Given the description of an element on the screen output the (x, y) to click on. 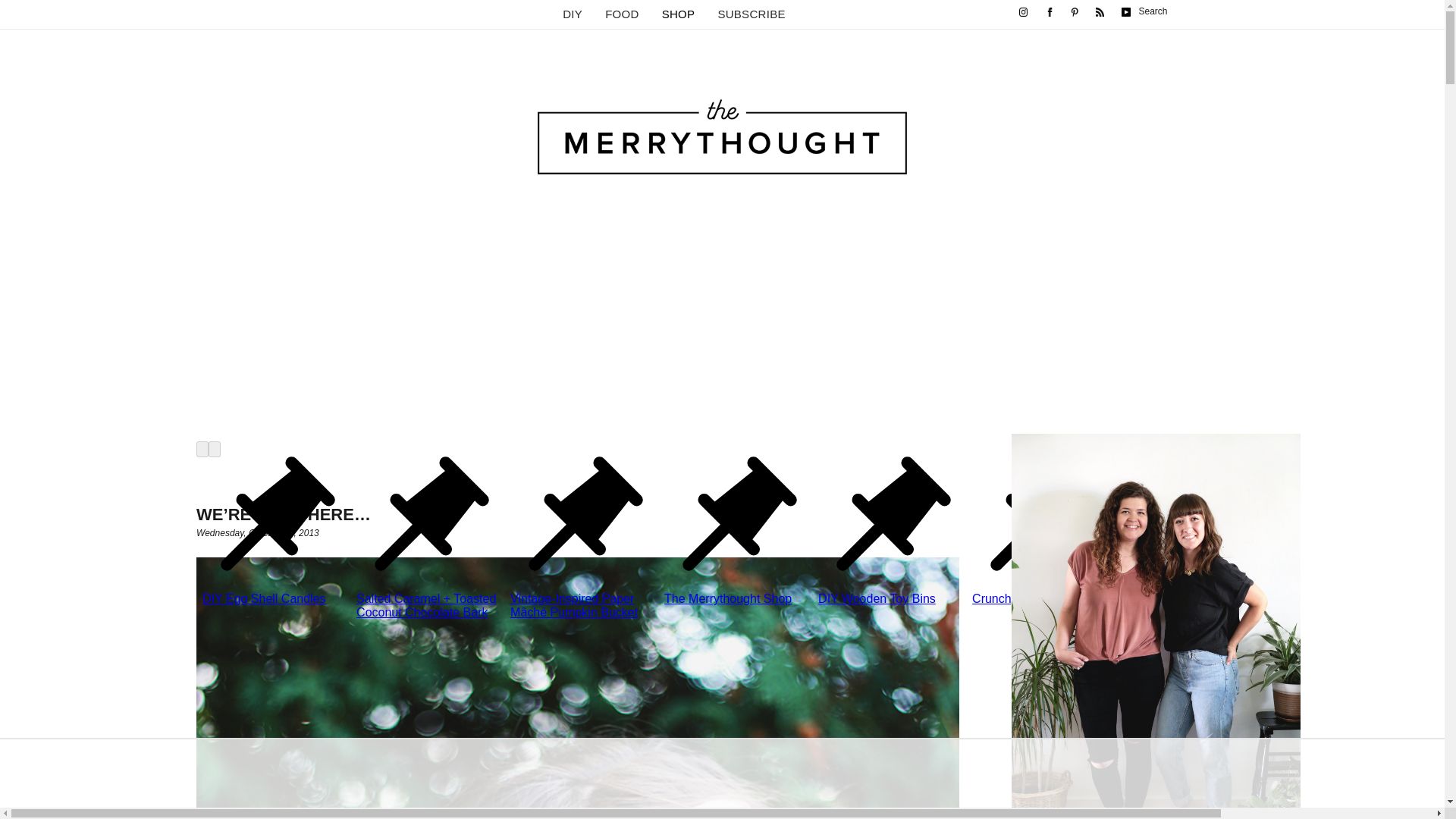
DIY (572, 13)
FOOD (622, 13)
SUBSCRIBE (750, 13)
